Given the description of an element on the screen output the (x, y) to click on. 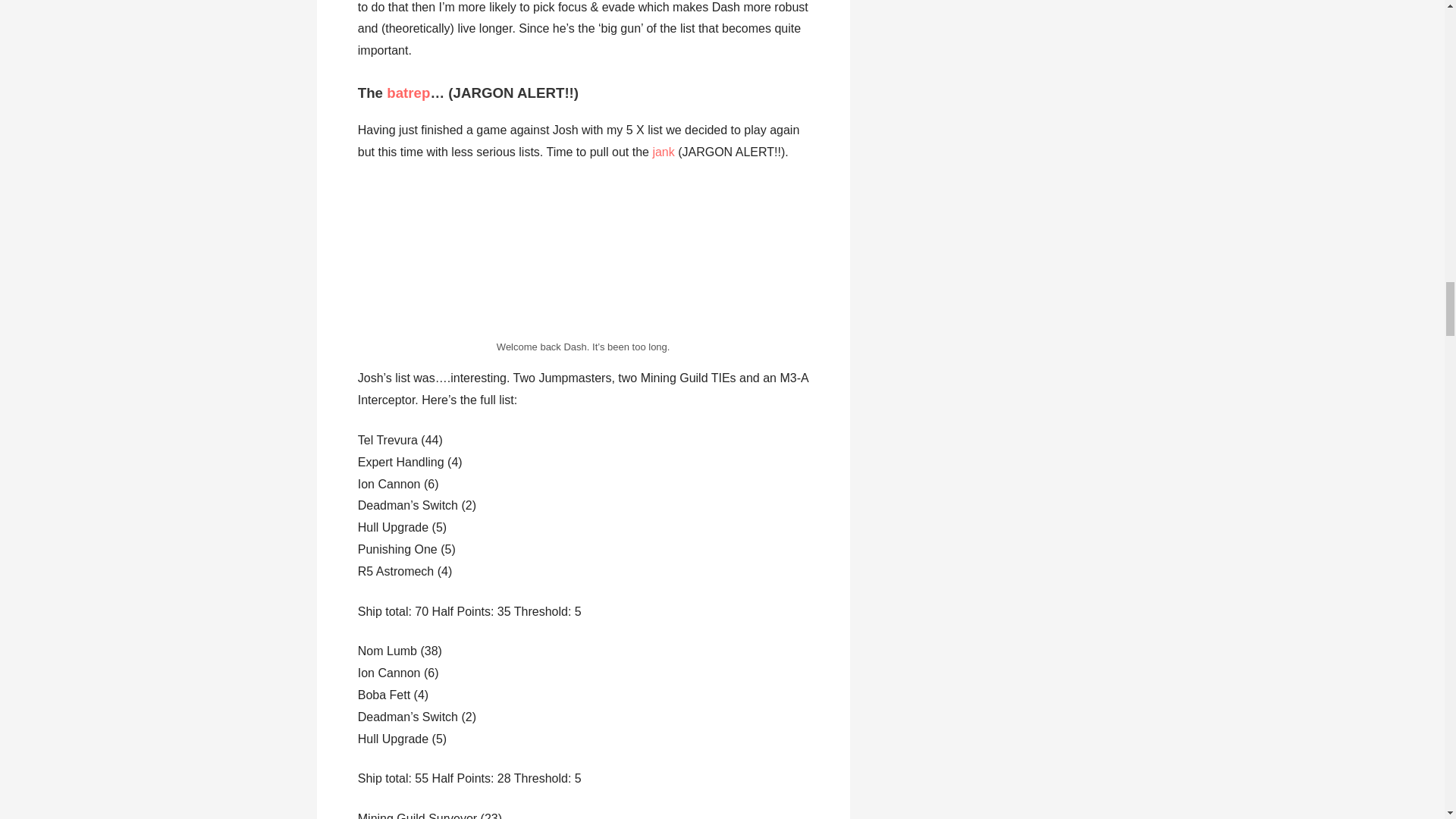
batrep (408, 92)
jank (665, 151)
